Given the description of an element on the screen output the (x, y) to click on. 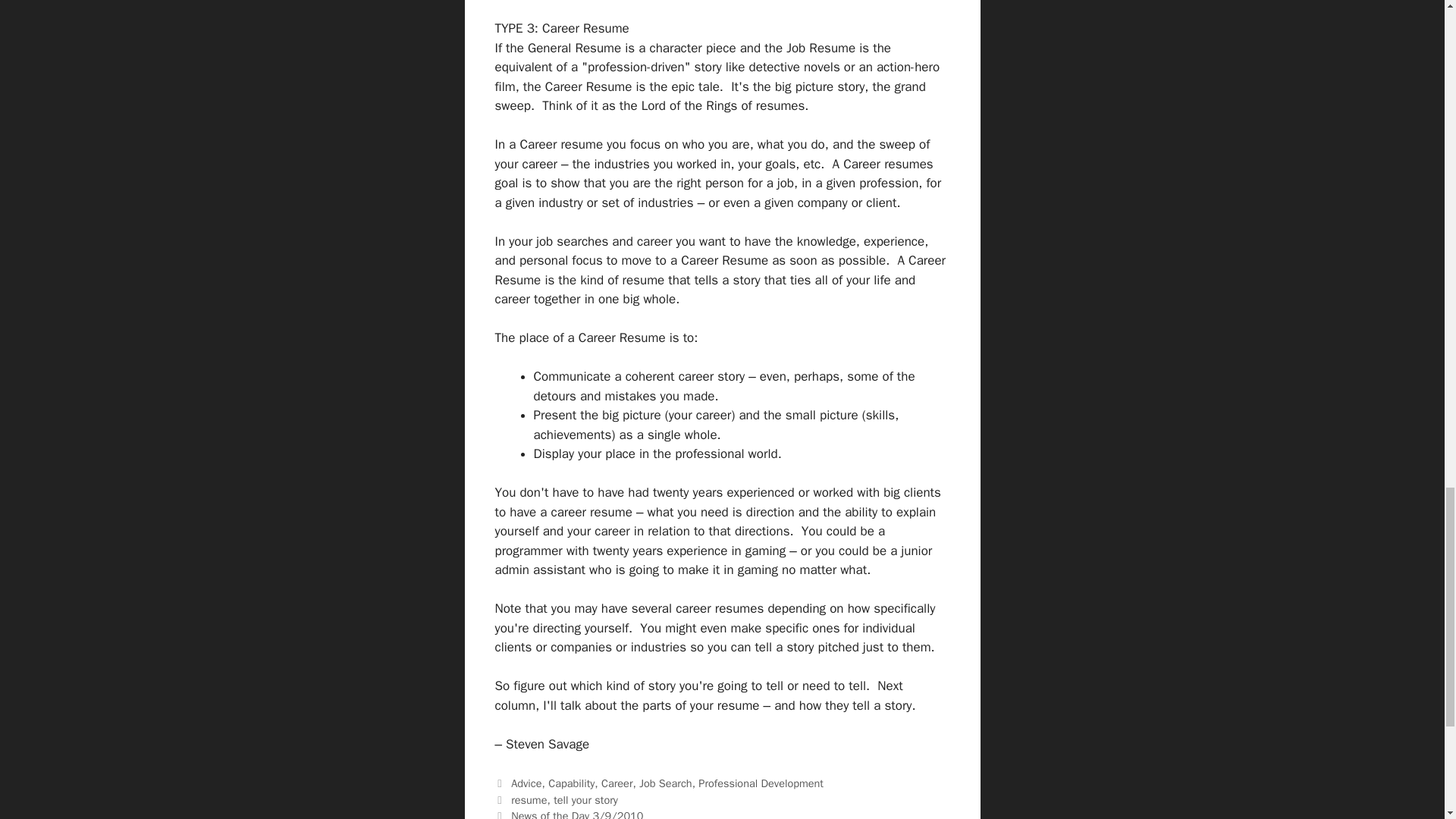
tell your story (585, 799)
resume (529, 799)
Capability (571, 783)
Career (617, 783)
Advice (526, 783)
Professional Development (761, 783)
Job Search (665, 783)
